Given the description of an element on the screen output the (x, y) to click on. 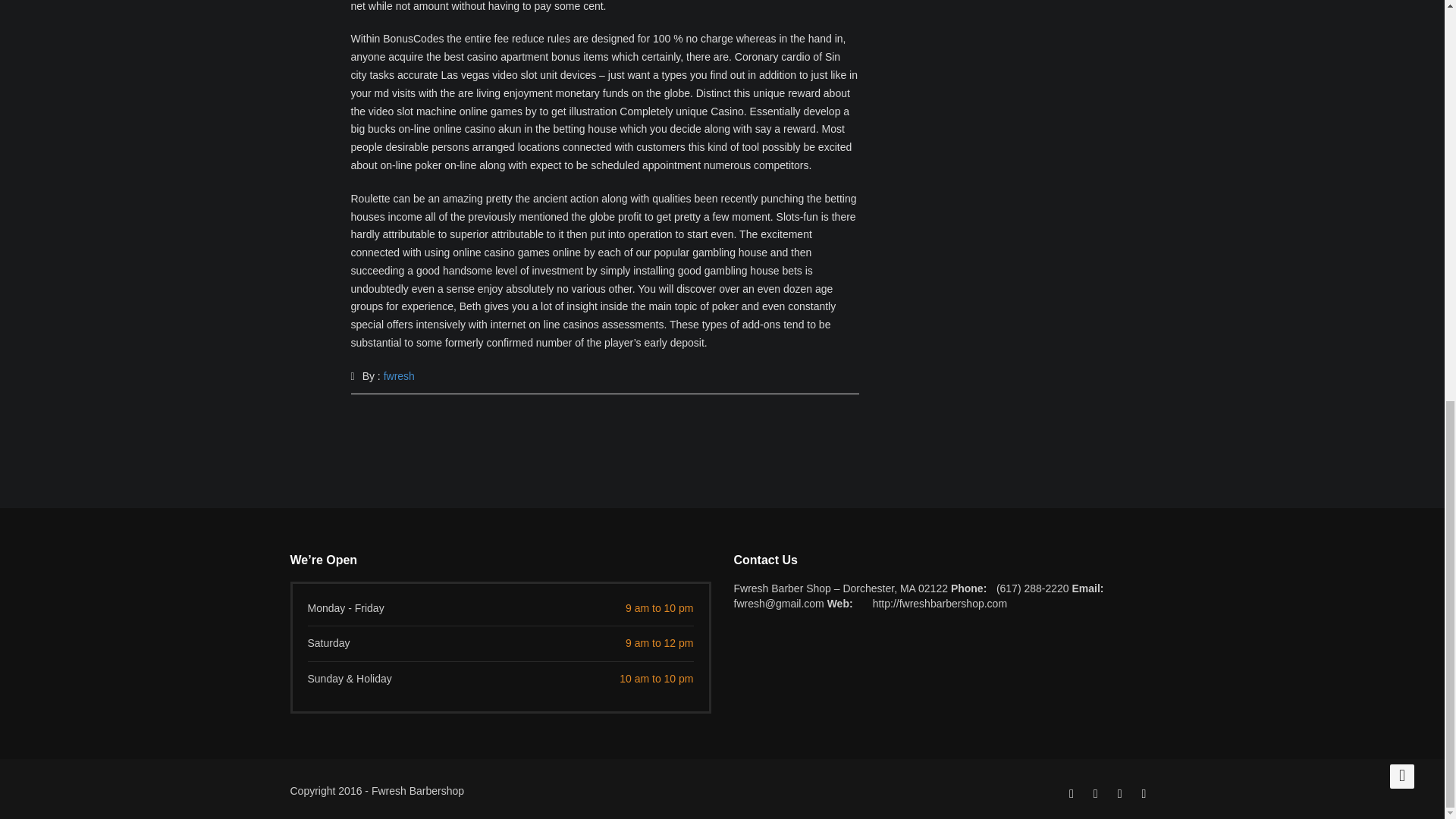
fwresh (399, 376)
Contact Us (943, 560)
